Given the description of an element on the screen output the (x, y) to click on. 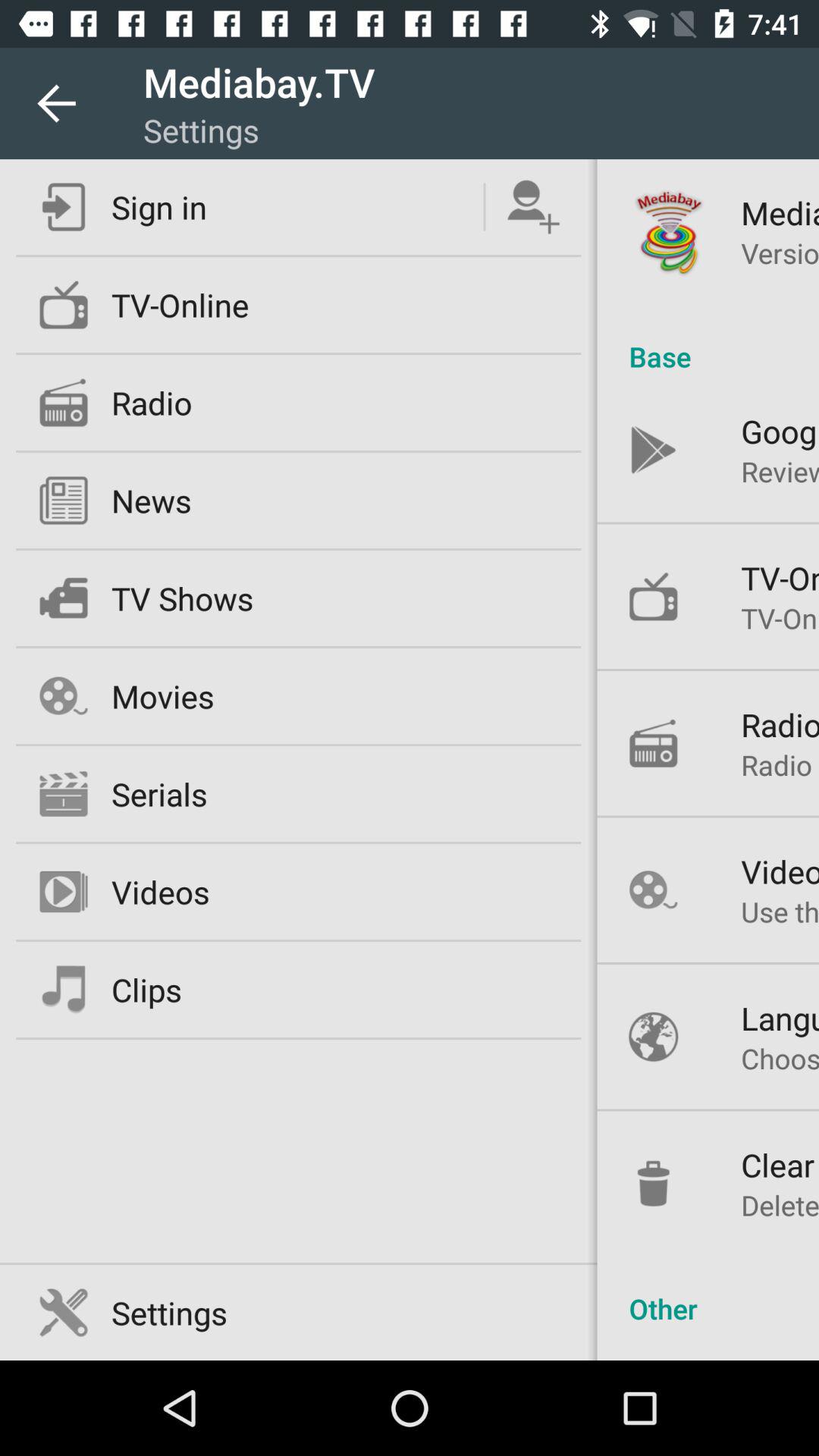
swipe to news item (151, 500)
